Given the description of an element on the screen output the (x, y) to click on. 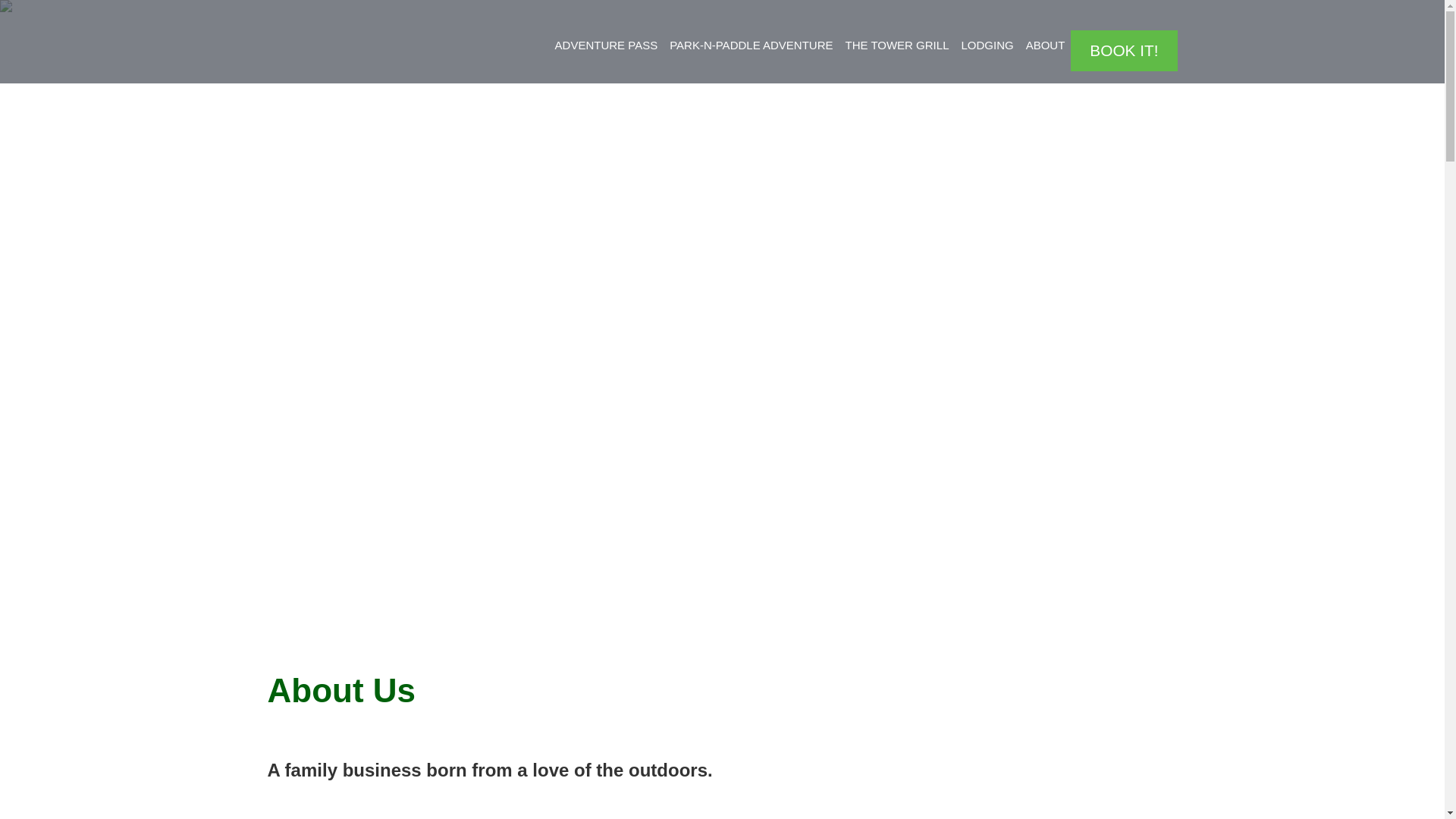
PARK-N-PADDLE ADVENTURE (750, 44)
ADVENTURE PASS (605, 44)
Glacier Highline (309, 818)
THE TOWER GRILL (896, 44)
ABOUT (1045, 44)
LODGING (987, 44)
BOOK IT! (1123, 50)
